Given the description of an element on the screen output the (x, y) to click on. 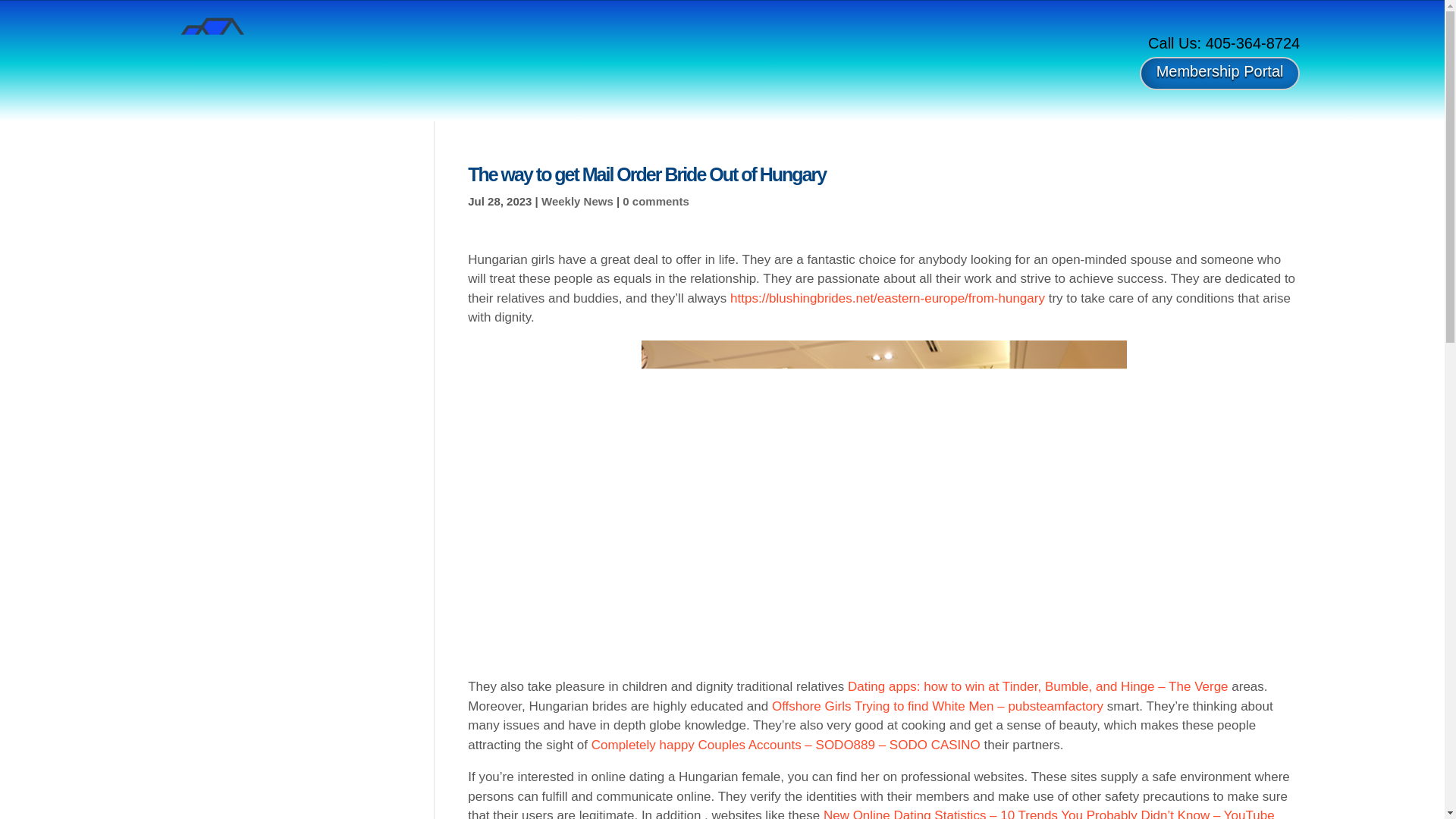
NBR LOGO 22 (215, 50)
Membership Portal (1220, 72)
0 comments (655, 201)
Weekly News (576, 201)
